Given the description of an element on the screen output the (x, y) to click on. 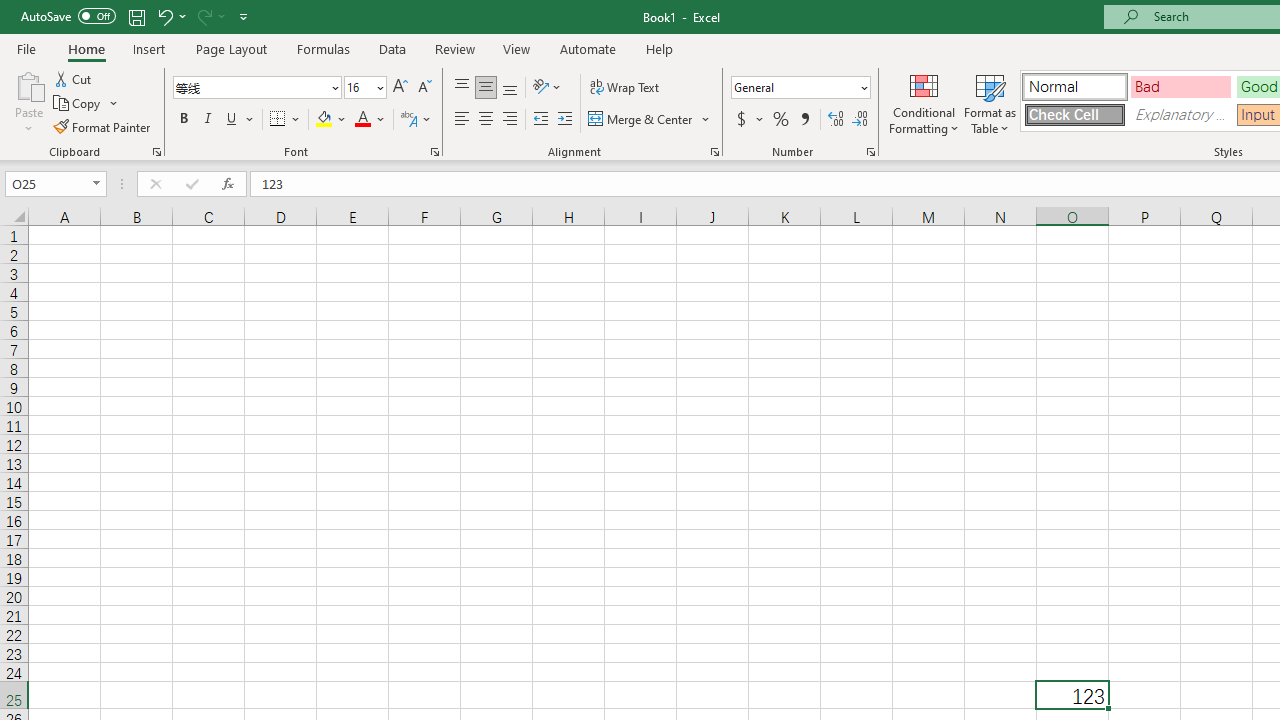
Decrease Font Size (424, 87)
Font (250, 87)
Cut (73, 78)
Underline (239, 119)
Font (256, 87)
Merge & Center (649, 119)
Fill Color (331, 119)
Font Color (370, 119)
